Given the description of an element on the screen output the (x, y) to click on. 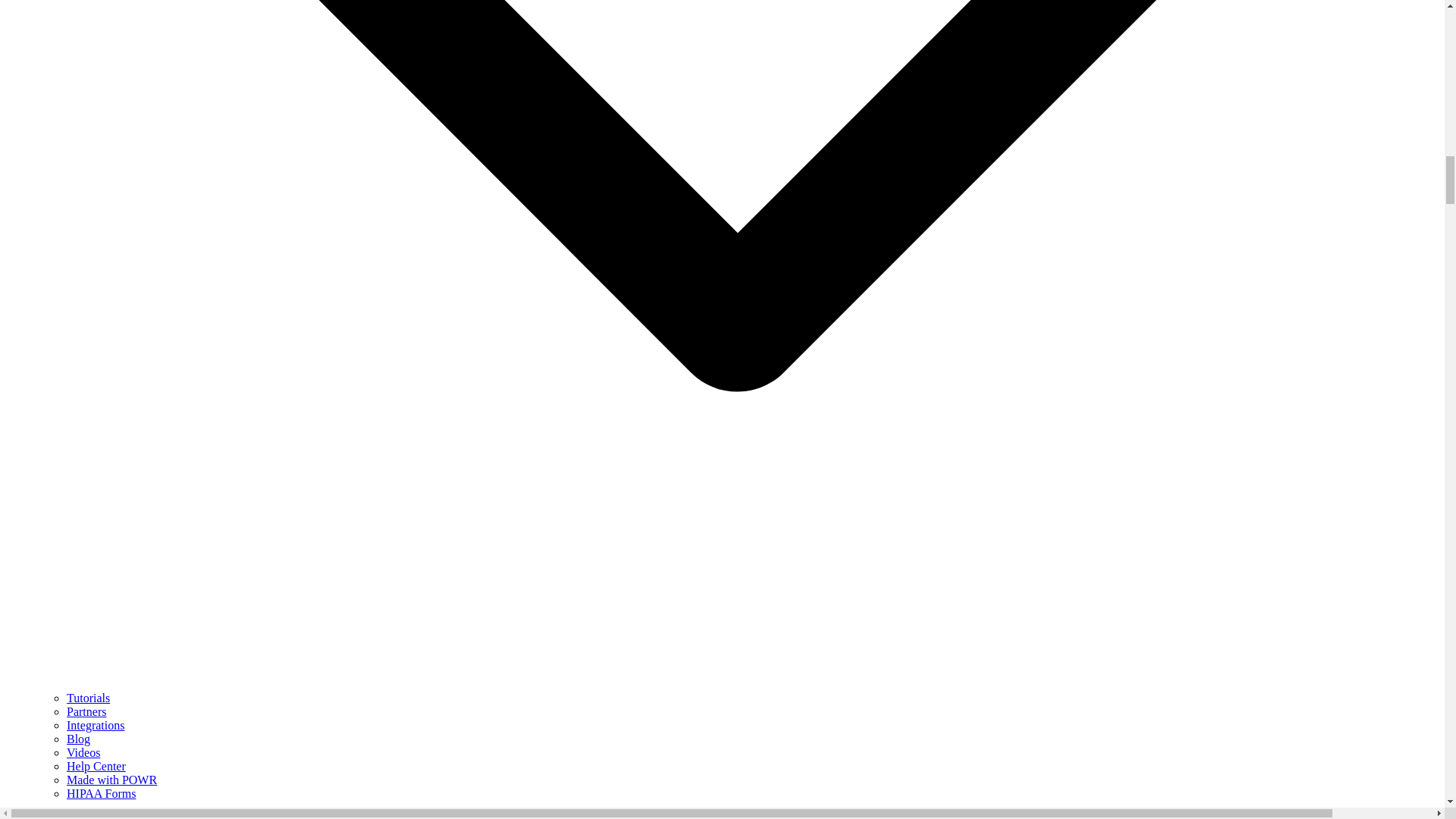
Integrations (94, 725)
Videos (83, 752)
Partners (86, 711)
Log In (95, 816)
Blog (78, 738)
Sign Up FREE (41, 816)
HIPAA Forms (100, 793)
Made with POWR (111, 779)
Tutorials (88, 697)
Help Center (95, 766)
